Given the description of an element on the screen output the (x, y) to click on. 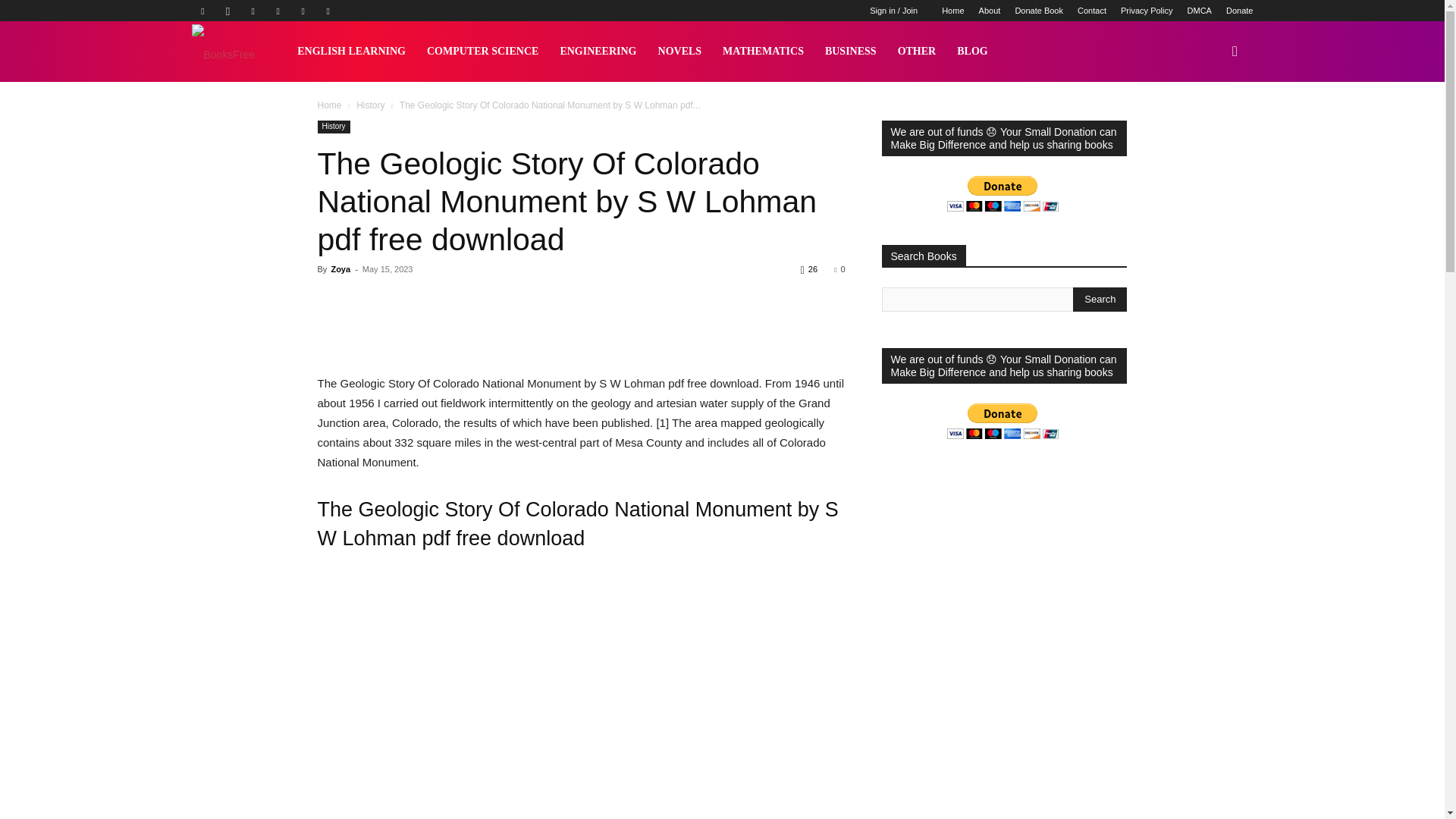
Paypal (252, 10)
Facebook (202, 10)
Youtube (328, 10)
Search (1099, 299)
Instagram (228, 10)
Twitter (303, 10)
Pinterest (277, 10)
